Given the description of an element on the screen output the (x, y) to click on. 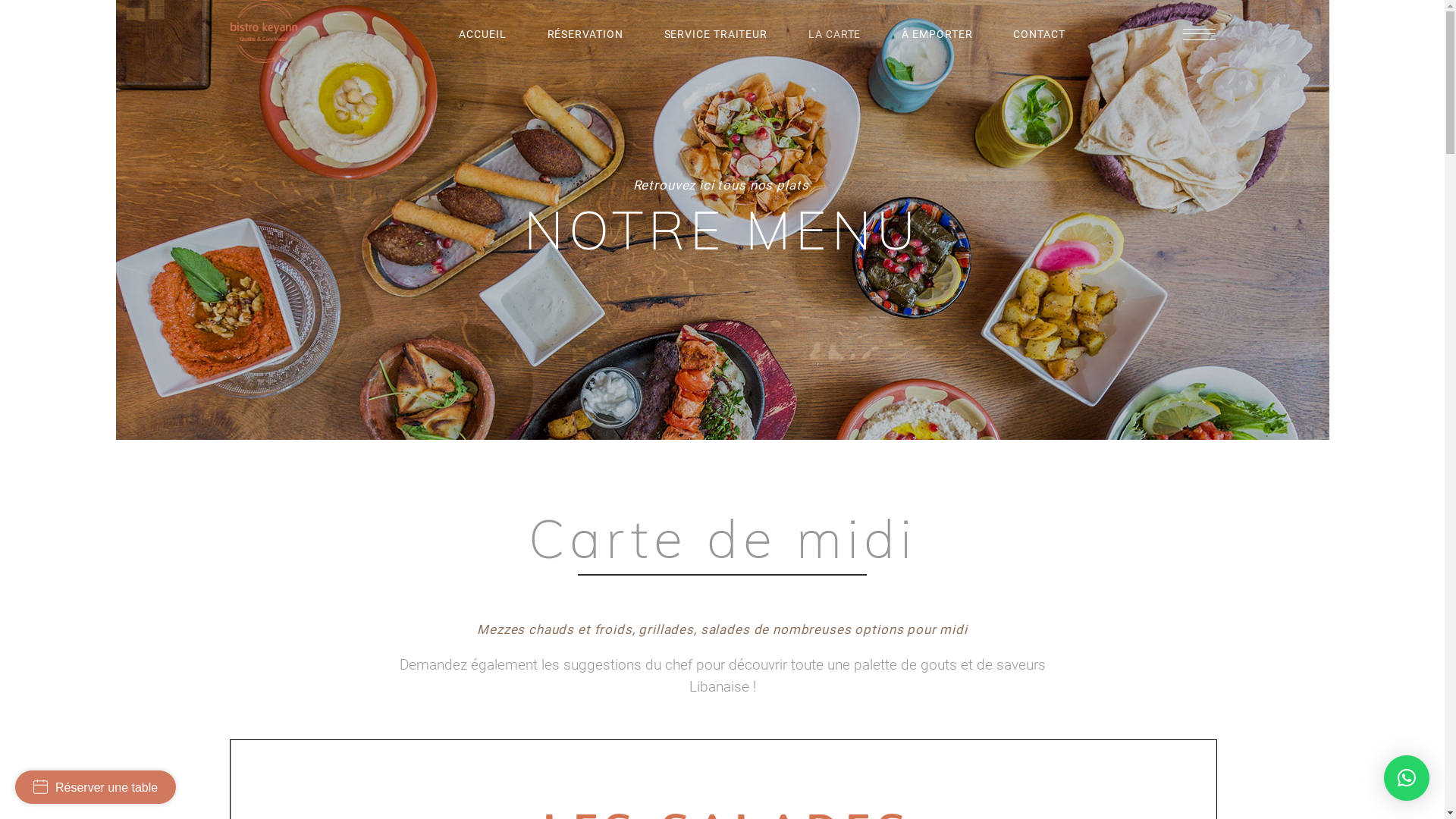
LA CARTE Element type: text (834, 34)
ACCUEIL Element type: text (482, 34)
CONTACT Element type: text (1038, 34)
SERVICE TRAITEUR Element type: text (715, 34)
